Given the description of an element on the screen output the (x, y) to click on. 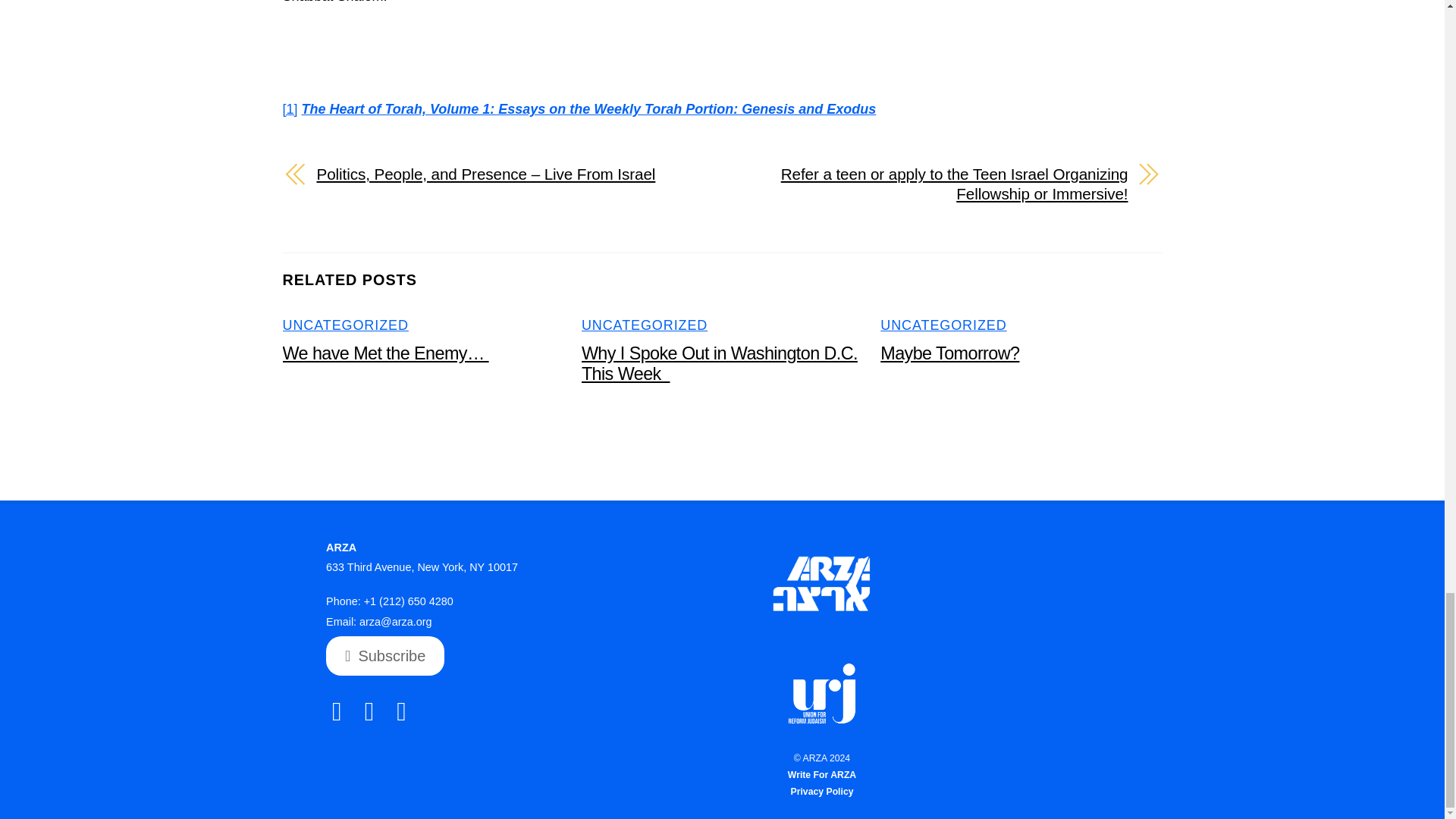
UNCATEGORIZED (344, 324)
Maybe Tomorrow? (949, 353)
Maybe Tomorrow? (949, 353)
Subscribe (385, 655)
Why I Spoke Out in Washington D.C. This Week   (718, 363)
UNCATEGORIZED (943, 324)
UNCATEGORIZED (643, 324)
